Given the description of an element on the screen output the (x, y) to click on. 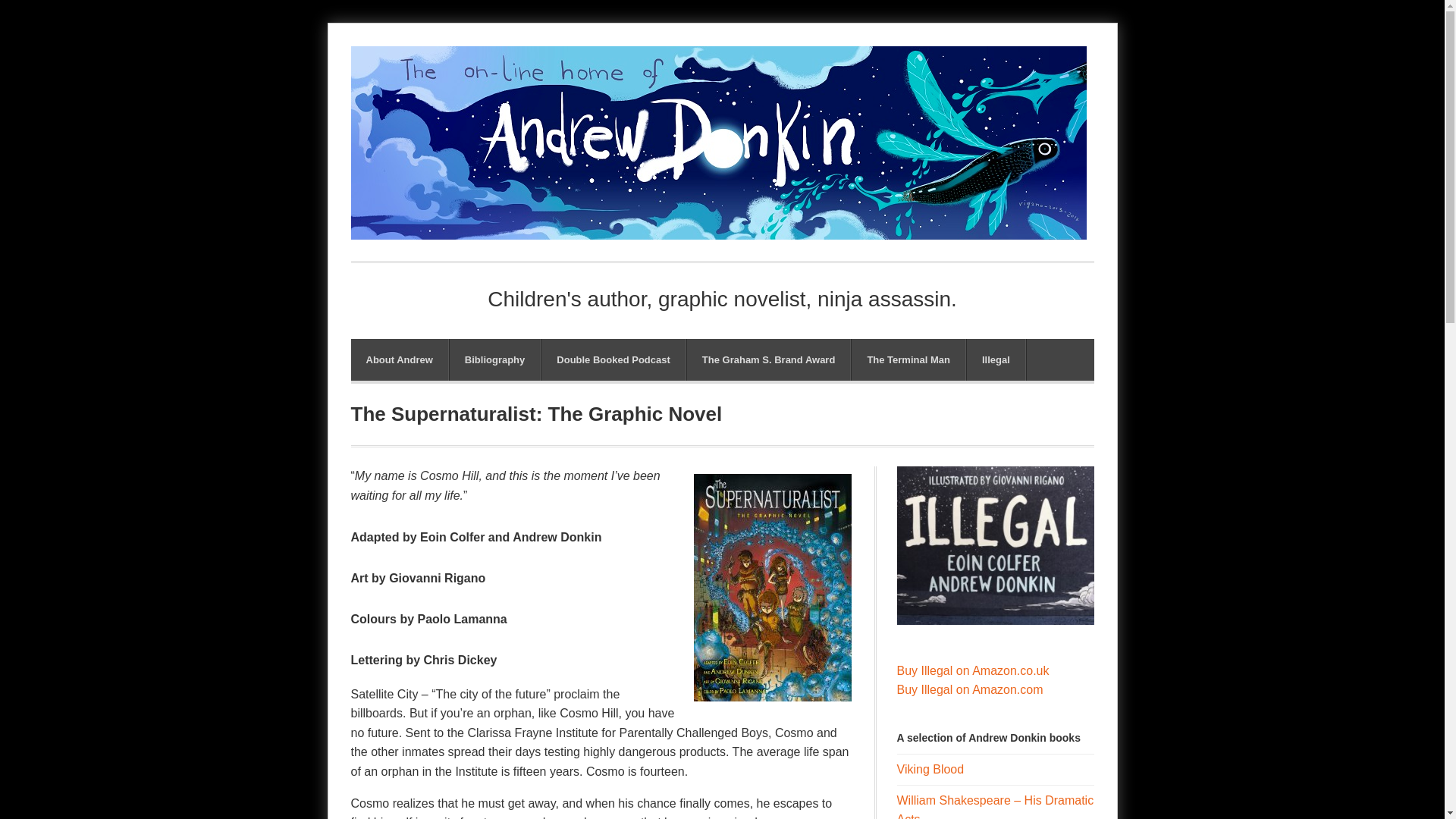
Illegal (995, 359)
About Andrew (398, 359)
The Graham S. Brand Award (768, 359)
Buy Illegal on Amazon.co.uk (972, 670)
The on-line home of Andrew Donkin (718, 229)
Double Booked Podcast (613, 359)
The Terminal Man (908, 359)
Buy Illegal on Amazon.com (969, 689)
Viking Blood (929, 768)
Bibliography (494, 359)
